Given the description of an element on the screen output the (x, y) to click on. 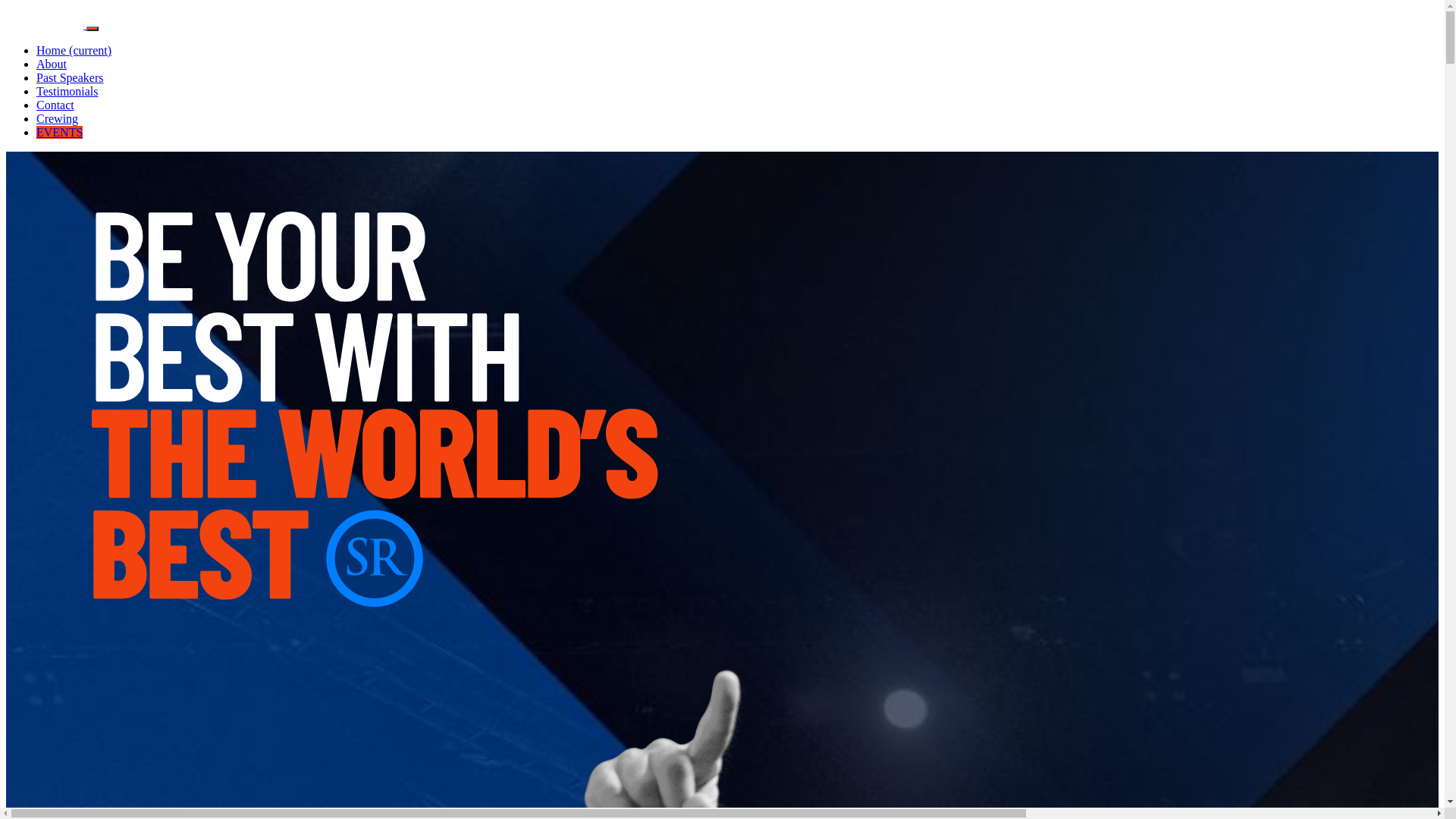
Home (current) Element type: text (73, 49)
Crewing Element type: text (57, 118)
Testimonials Element type: text (67, 90)
Contact Element type: text (55, 104)
Past Speakers Element type: text (69, 77)
EVENTS Element type: text (59, 131)
About Element type: text (51, 63)
